Given the description of an element on the screen output the (x, y) to click on. 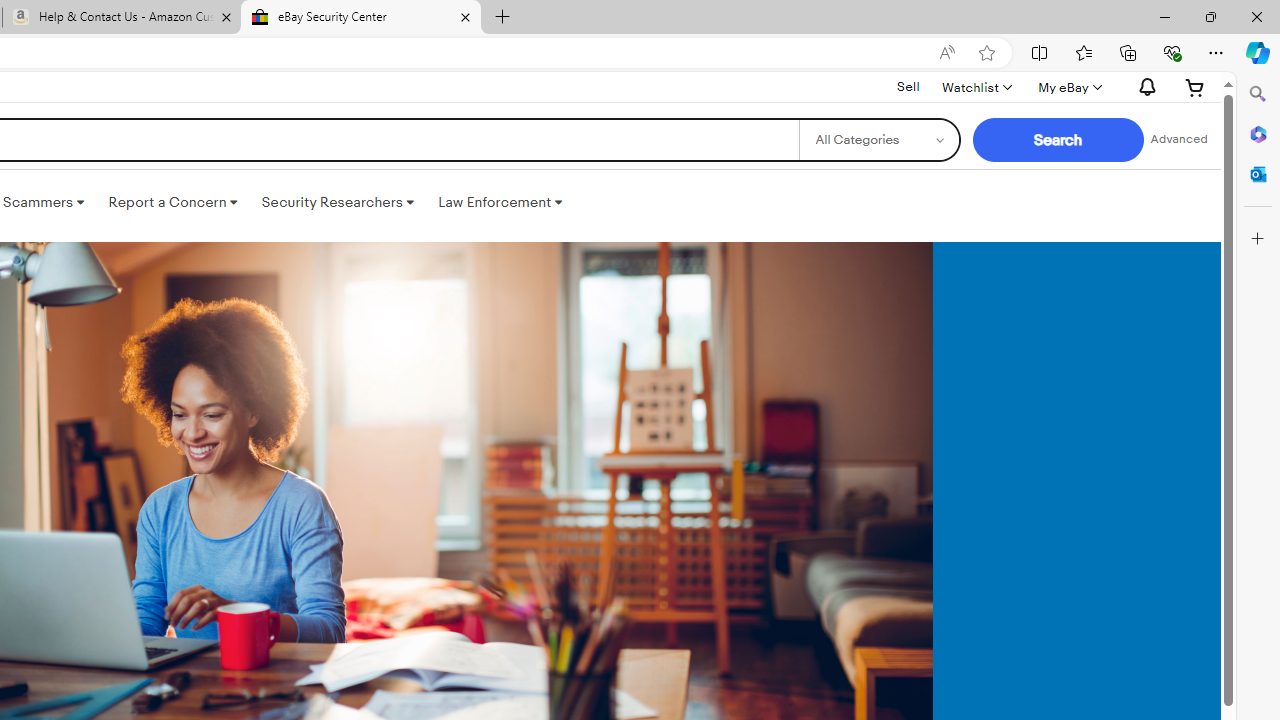
Notifications (1142, 87)
AutomationID: gh-eb-Alerts (1144, 87)
Watchlist (975, 87)
Select a category for search (877, 139)
My eBay (1068, 87)
eBay Security Center (360, 17)
Report a Concern  (173, 202)
Sell (907, 86)
Advanced Search (1179, 139)
Sell (908, 87)
